Given the description of an element on the screen output the (x, y) to click on. 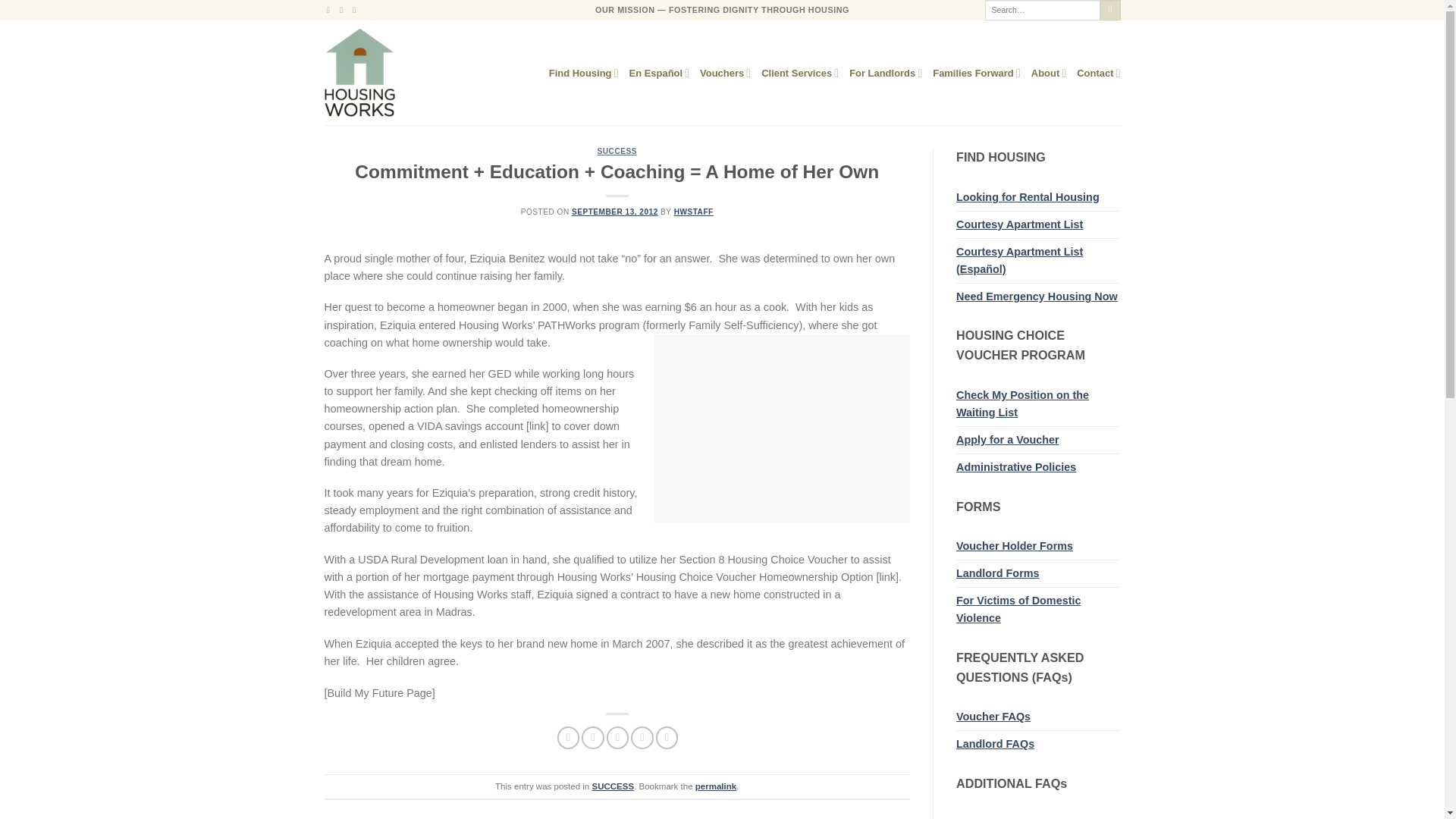
Client Services (799, 72)
Share on Facebook (568, 737)
Follow on Twitter (343, 9)
Pin on Pinterest (641, 737)
Find Housing (583, 72)
Share on Twitter (592, 737)
Vouchers (725, 72)
Share on LinkedIn (667, 737)
Housing Works - Fostering Dignity Through Housing (388, 72)
Follow on YouTube (356, 9)
